Given the description of an element on the screen output the (x, y) to click on. 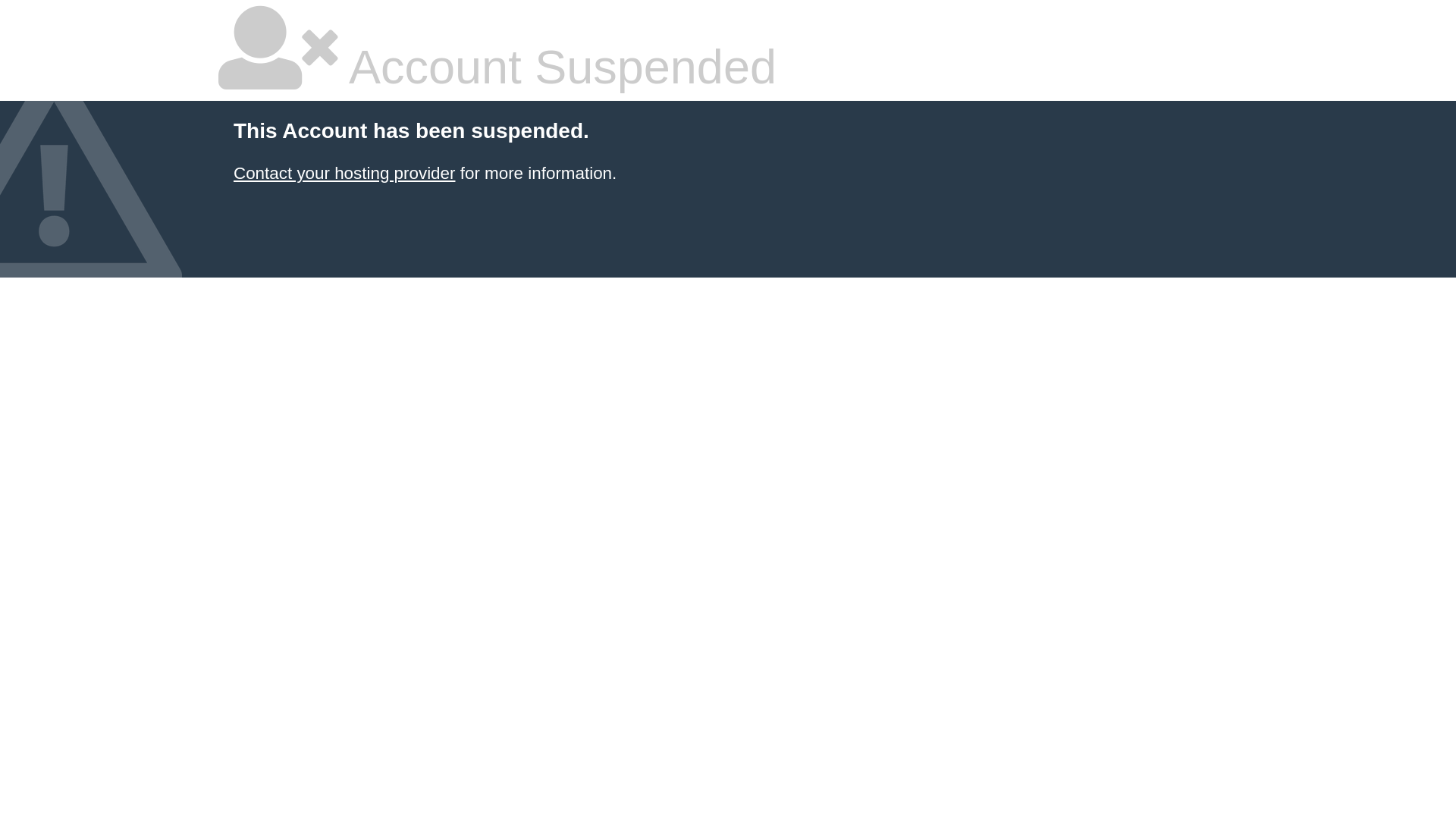
Contact your hosting provider Element type: text (344, 172)
